Given the description of an element on the screen output the (x, y) to click on. 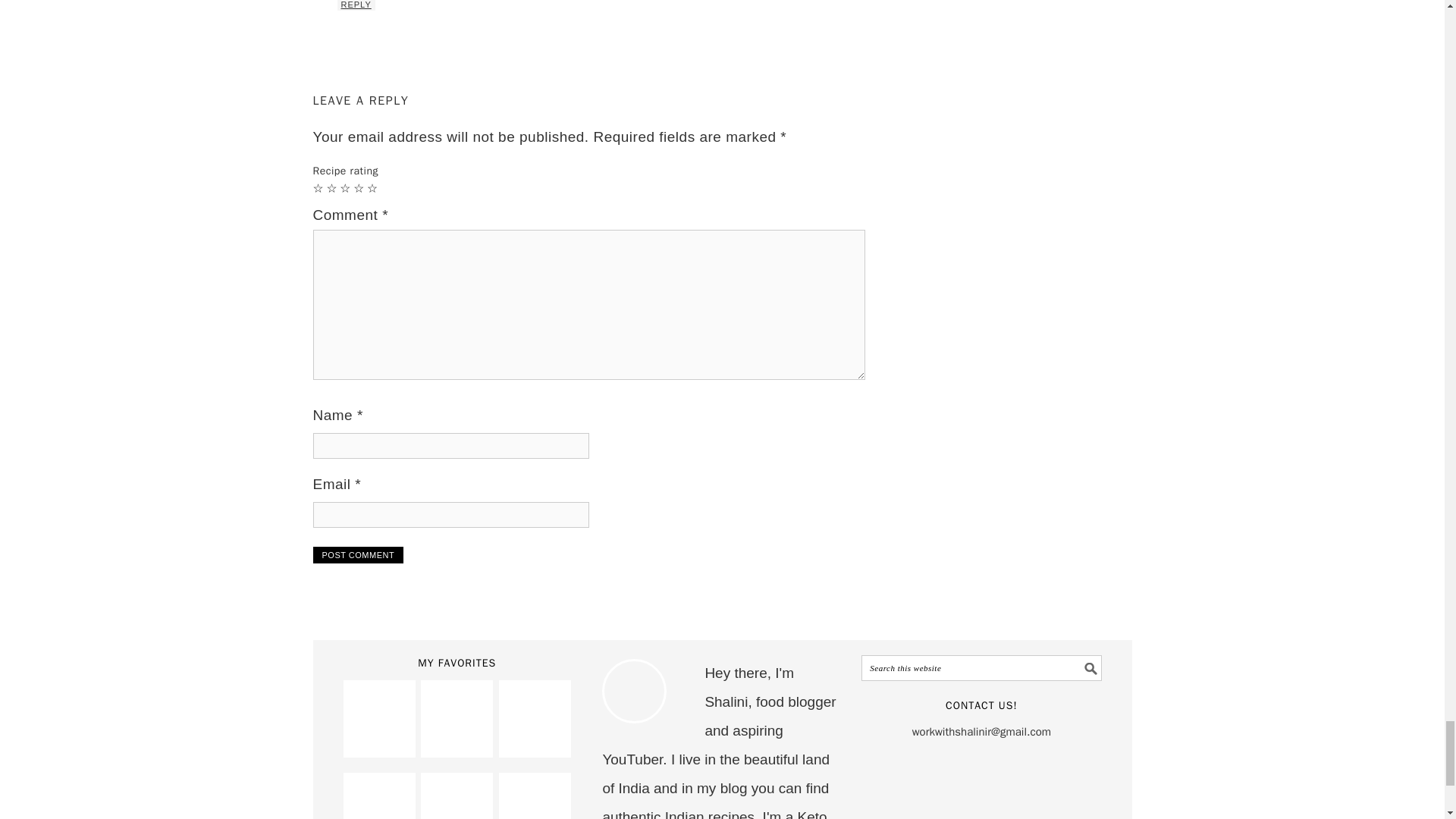
Post Comment (358, 555)
How do CGM systems help in measuring Time in Range (379, 744)
How CGM Helps Me Monitor Glucose Levels with Ease (457, 744)
